Given the description of an element on the screen output the (x, y) to click on. 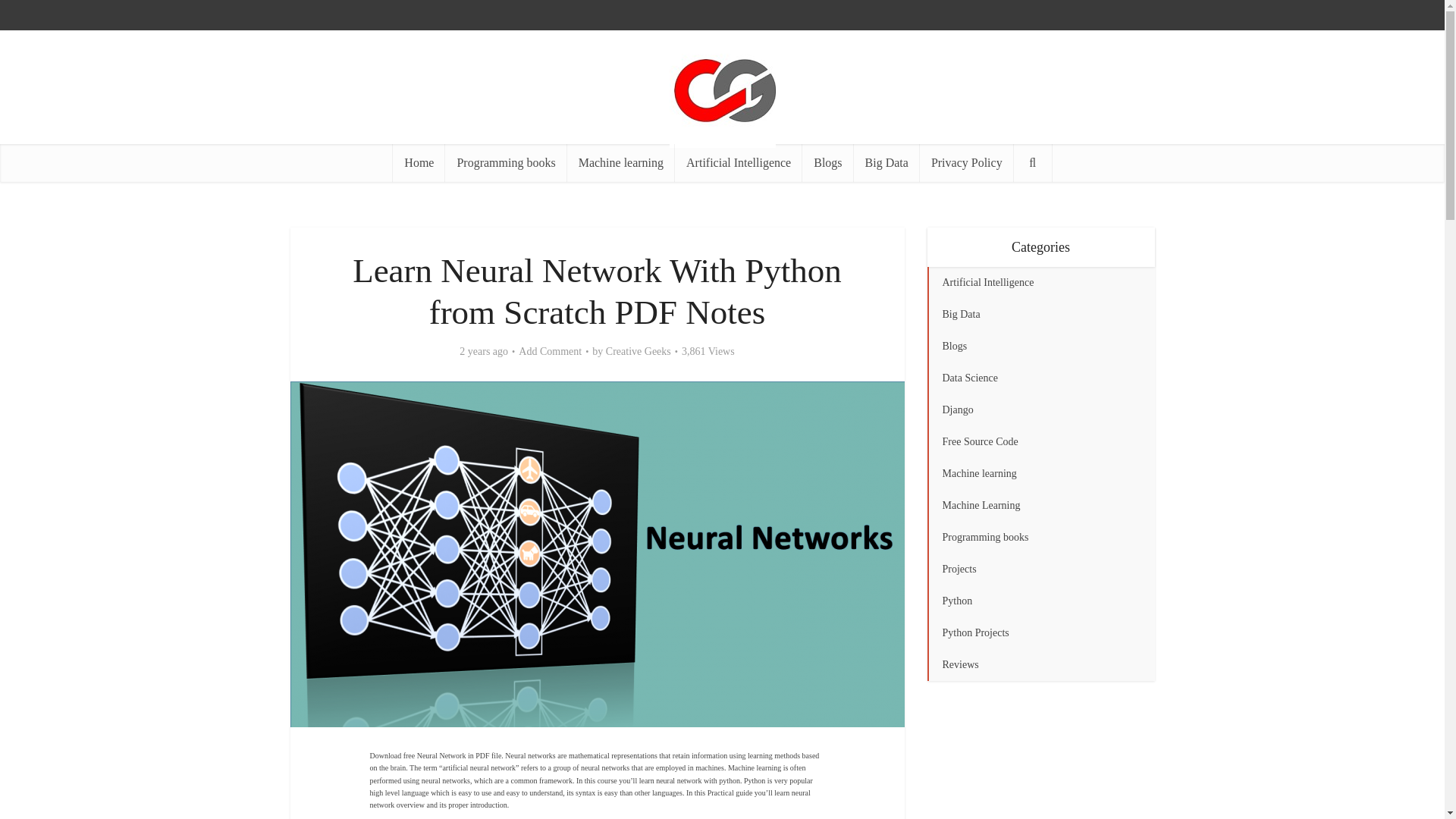
Home (419, 162)
Programming books (505, 162)
Add Comment (549, 351)
Big Data (886, 162)
Blogs (827, 162)
Privacy Policy (966, 162)
Machine learning (621, 162)
Artificial Intelligence (738, 162)
Artificial Intelligence (1040, 282)
Creative Geeks (638, 351)
